Given the description of an element on the screen output the (x, y) to click on. 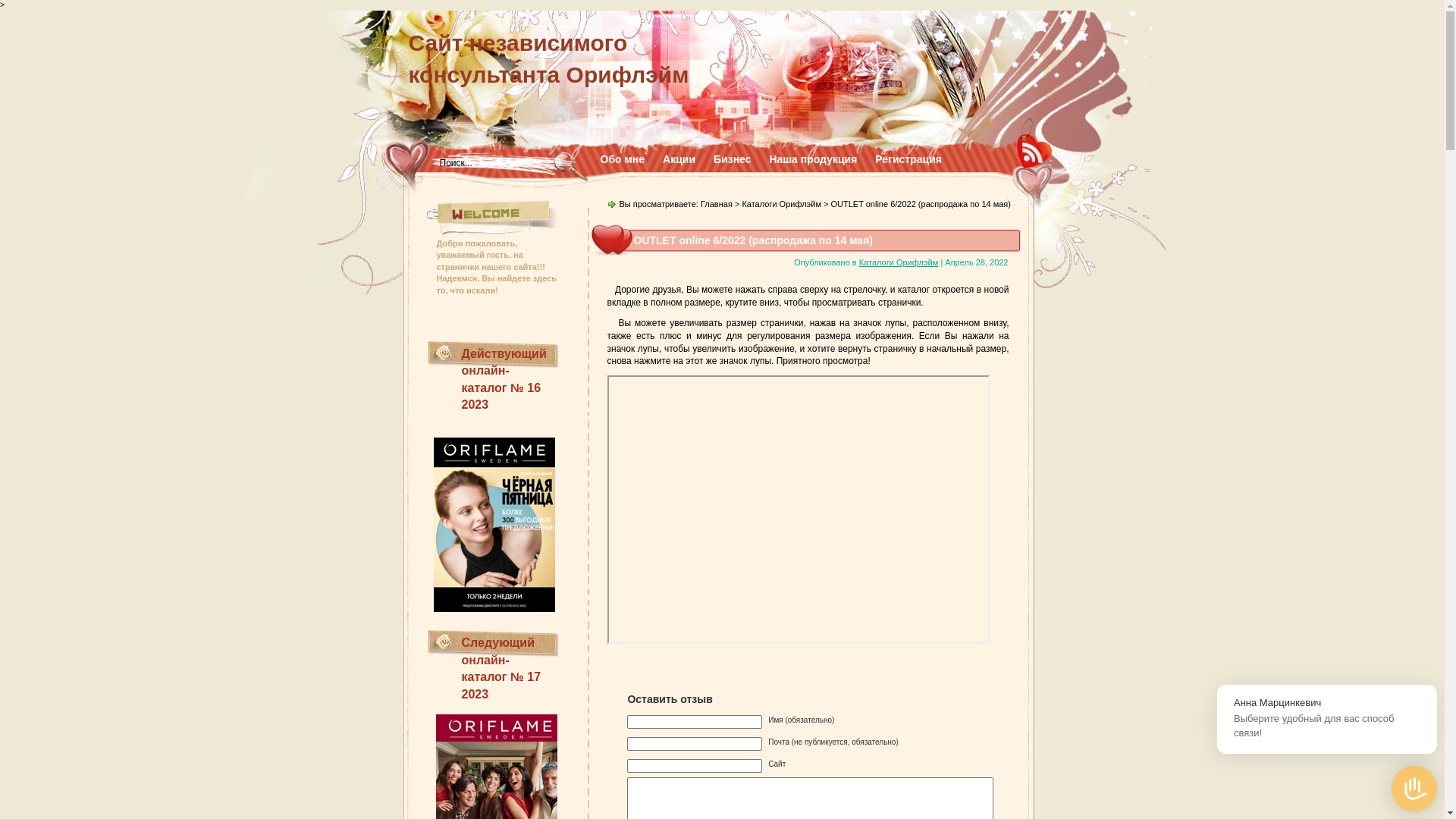
    Element type: text (494, 520)
